Given the description of an element on the screen output the (x, y) to click on. 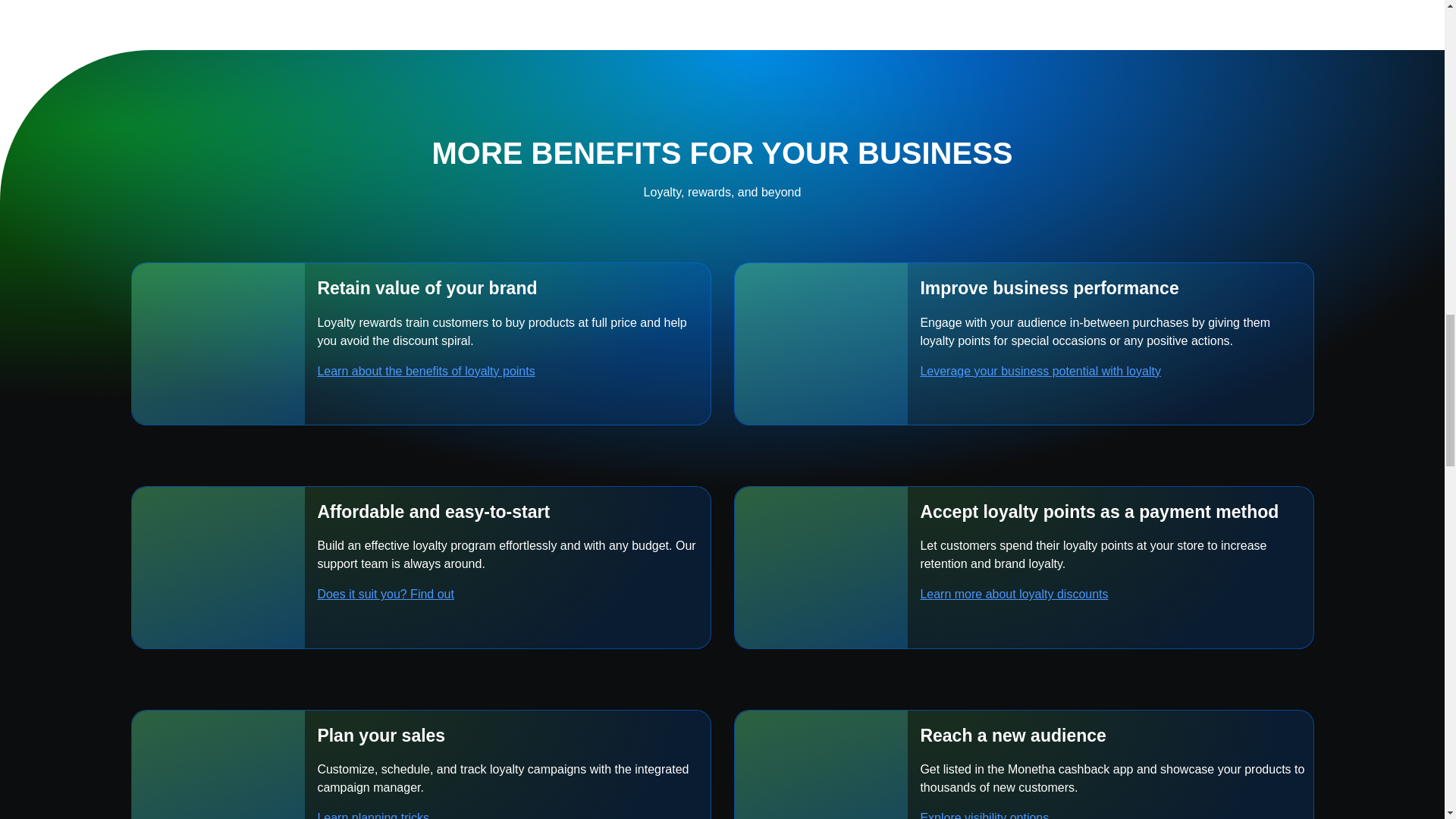
Does it suit you? Find out (402, 594)
Learn about the benefits of loyalty points (442, 369)
Leverage your business potential with loyalty (1056, 369)
